Given the description of an element on the screen output the (x, y) to click on. 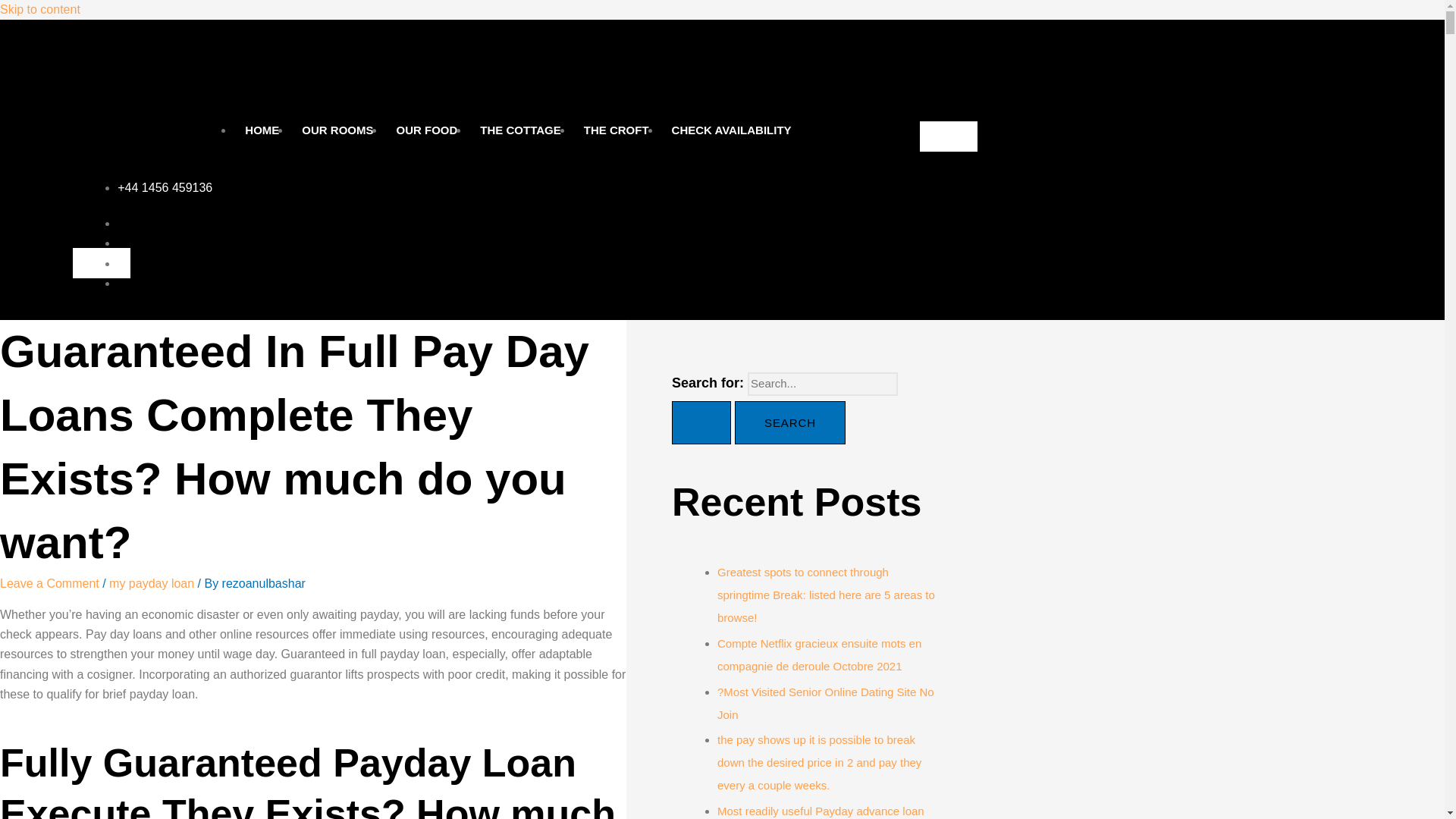
my payday loan (151, 583)
Skip to content (40, 9)
THE CROFT (616, 130)
Skip to content (40, 9)
OUR ROOMS (336, 130)
View all posts by rezoanulbashar (263, 583)
Leave a Comment (49, 583)
THE COTTAGE (520, 130)
